Given the description of an element on the screen output the (x, y) to click on. 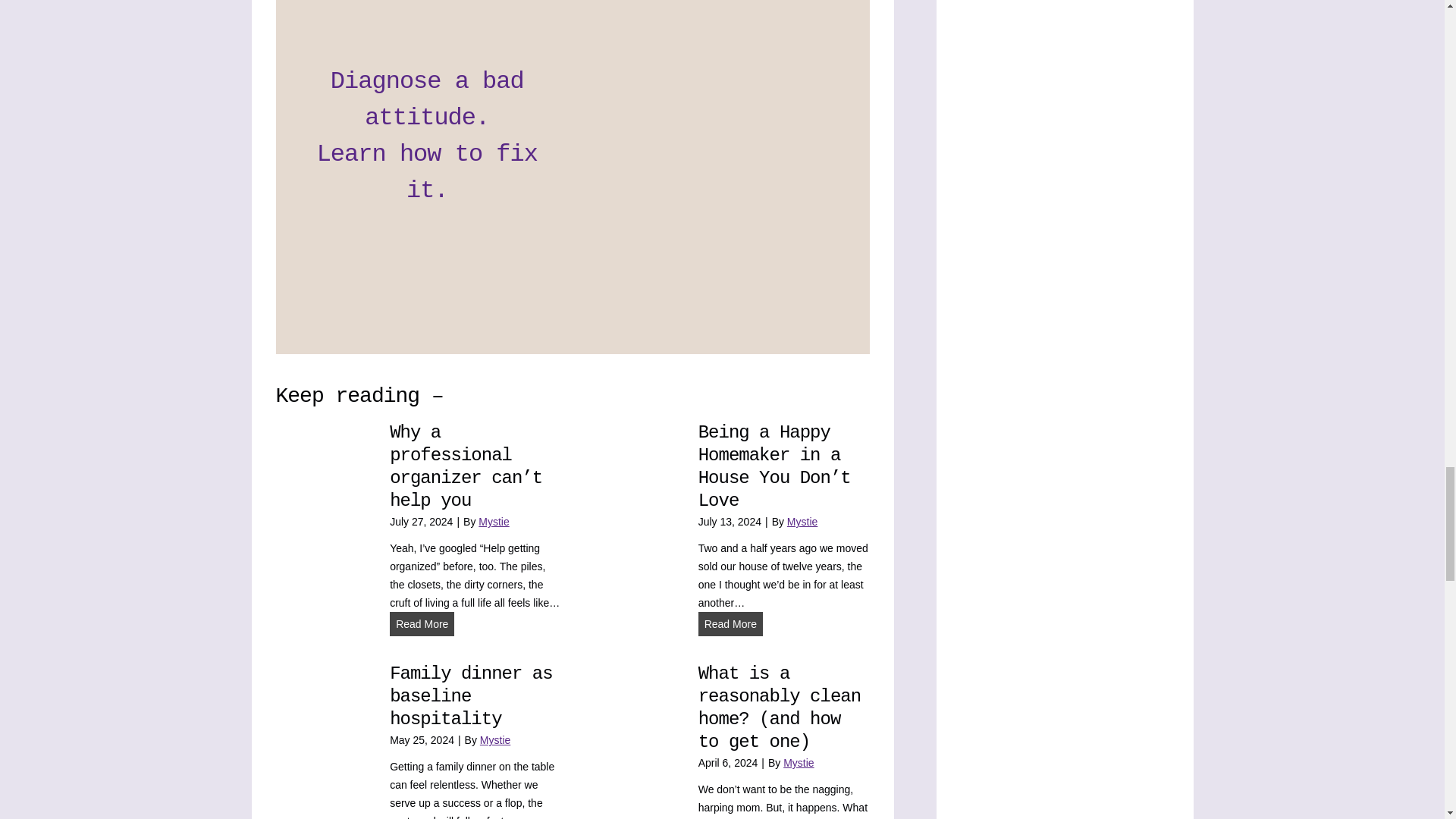
Mystie (801, 521)
Mystie (493, 521)
